Given the description of an element on the screen output the (x, y) to click on. 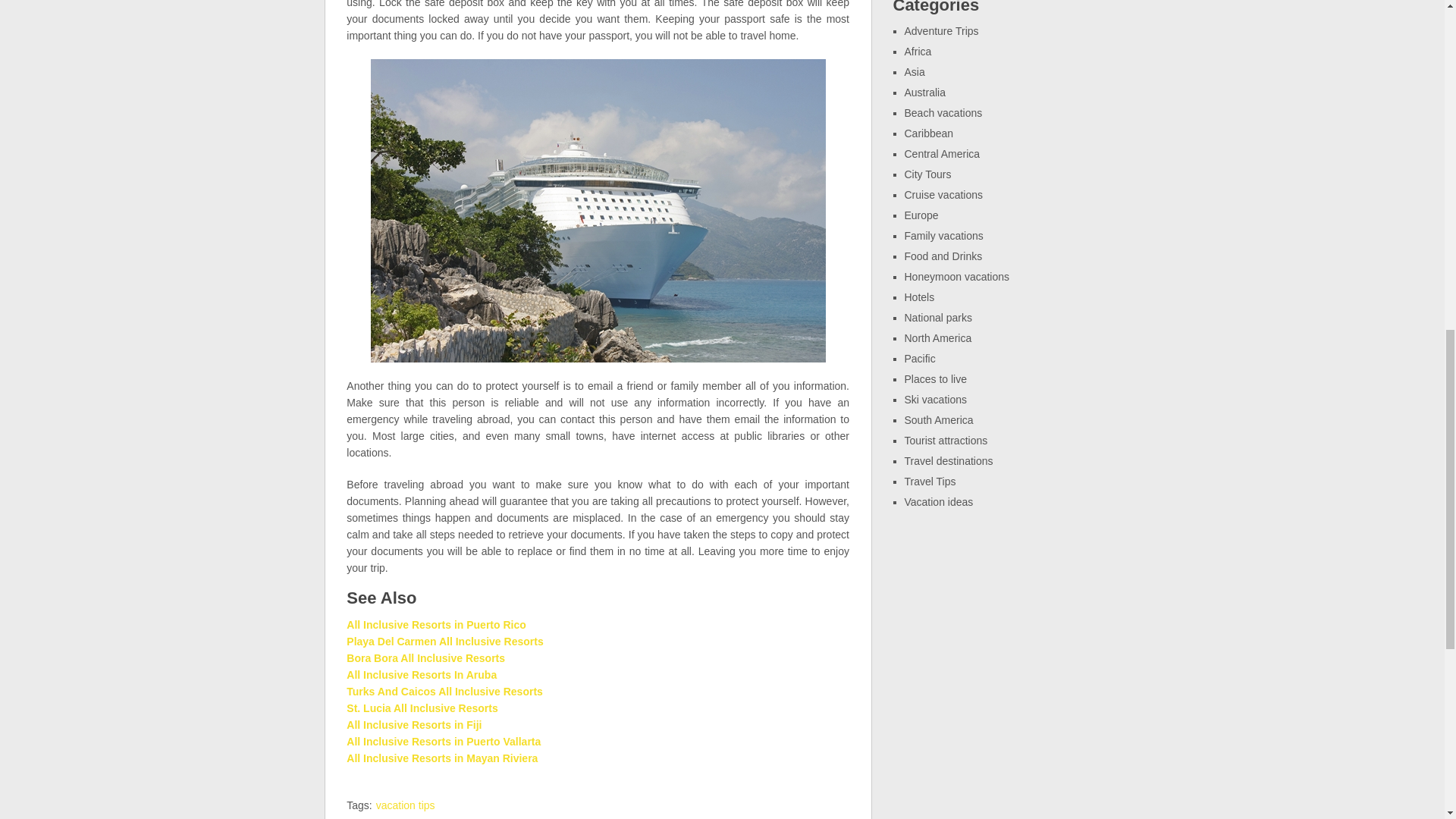
Playa Del Carmen All Inclusive Resorts (444, 641)
All Inclusive Resorts In Aruba (421, 674)
All Inclusive Resorts in Fiji (413, 725)
St. Lucia All Inclusive Resorts (421, 707)
All Inclusive Resorts in Puerto Rico (435, 624)
Turks And Caicos All Inclusive Resorts (444, 691)
Bora Bora All Inclusive Resorts (425, 657)
